Given the description of an element on the screen output the (x, y) to click on. 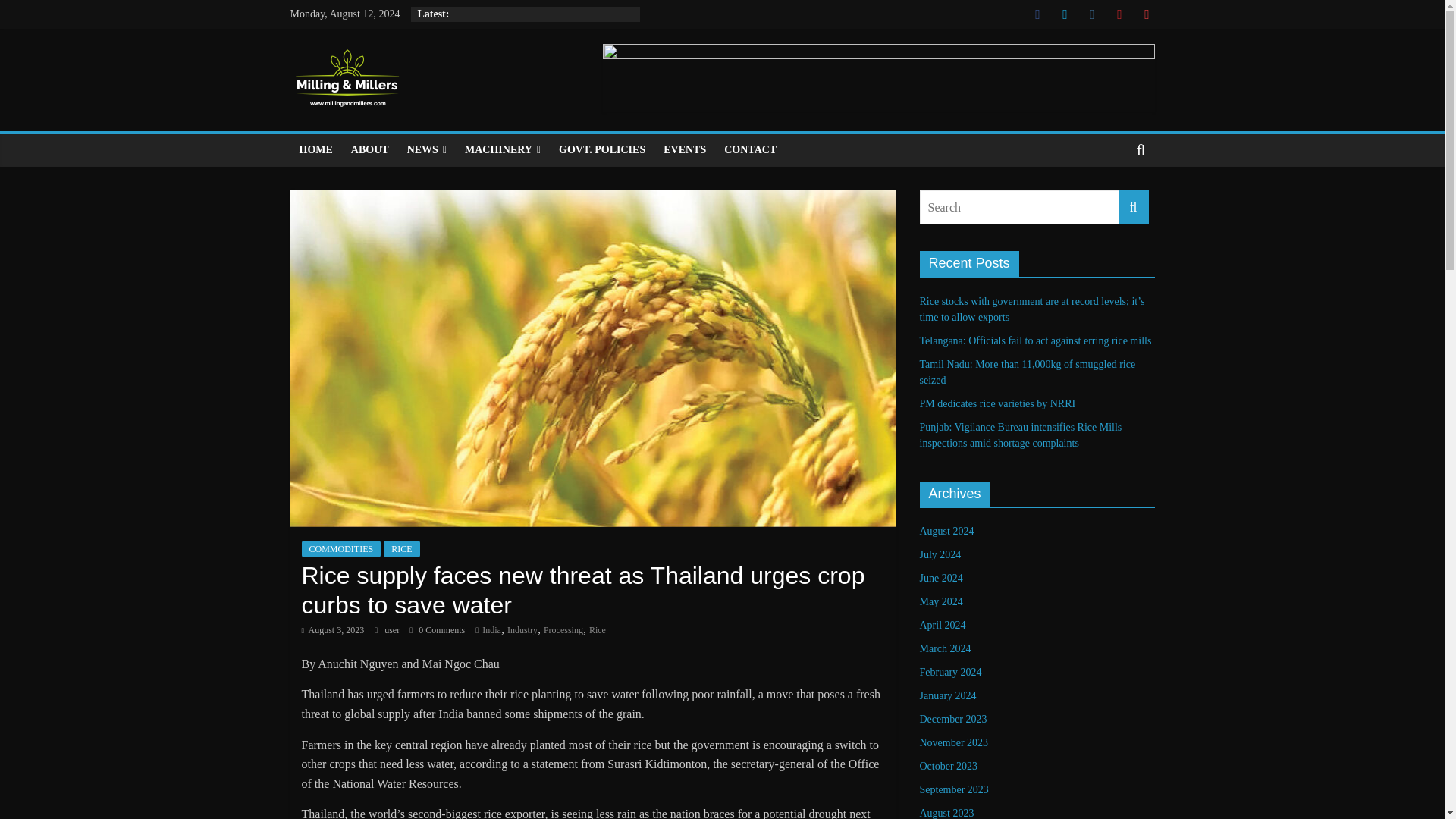
EVENTS (683, 150)
NEWS (426, 150)
user (392, 629)
4:04 am (333, 629)
Rice (597, 629)
user (392, 629)
0 Comments (436, 629)
CONTACT (750, 150)
ABOUT (369, 150)
COMMODITIES (341, 548)
